Given the description of an element on the screen output the (x, y) to click on. 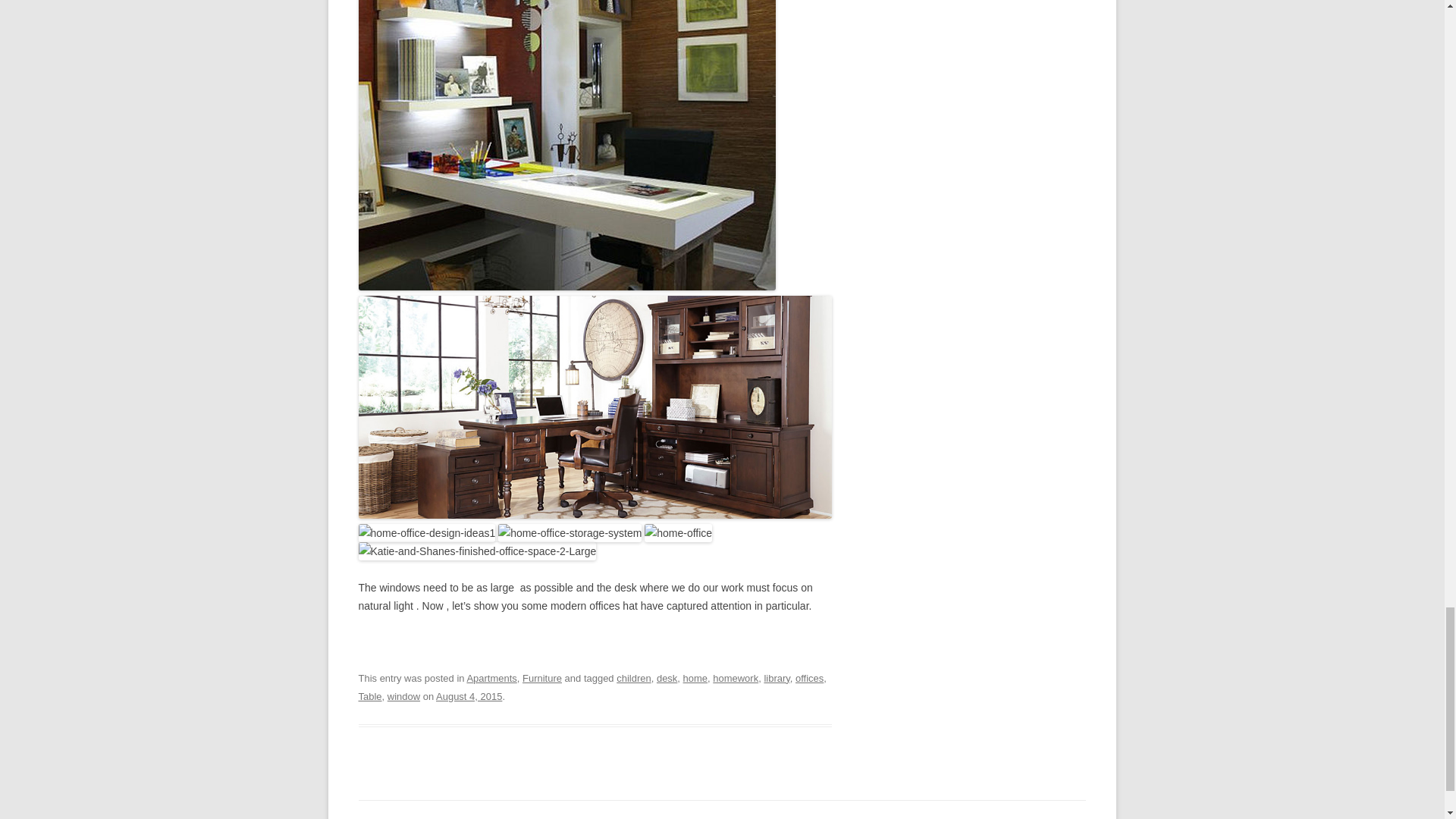
offices (809, 677)
August 4, 2015 (468, 696)
Apartments (490, 677)
library (775, 677)
home (694, 677)
desk (666, 677)
6:51 pm (468, 696)
Furniture (542, 677)
homework (735, 677)
Table (369, 696)
